Given the description of an element on the screen output the (x, y) to click on. 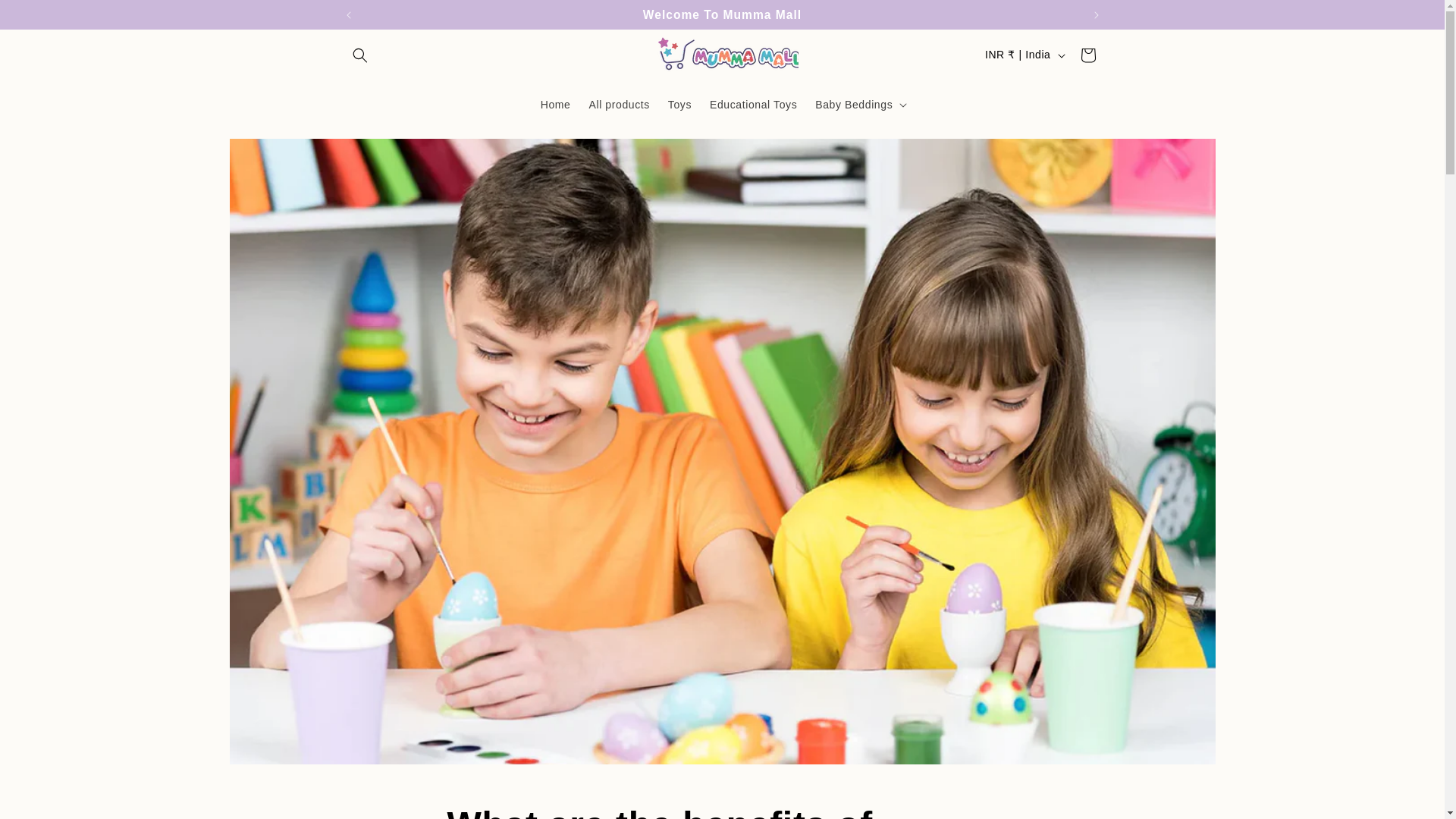
Home (721, 810)
Educational Toys (555, 104)
Cart (753, 104)
Skip to content (1086, 55)
Toys (46, 18)
All products (679, 104)
